Given the description of an element on the screen output the (x, y) to click on. 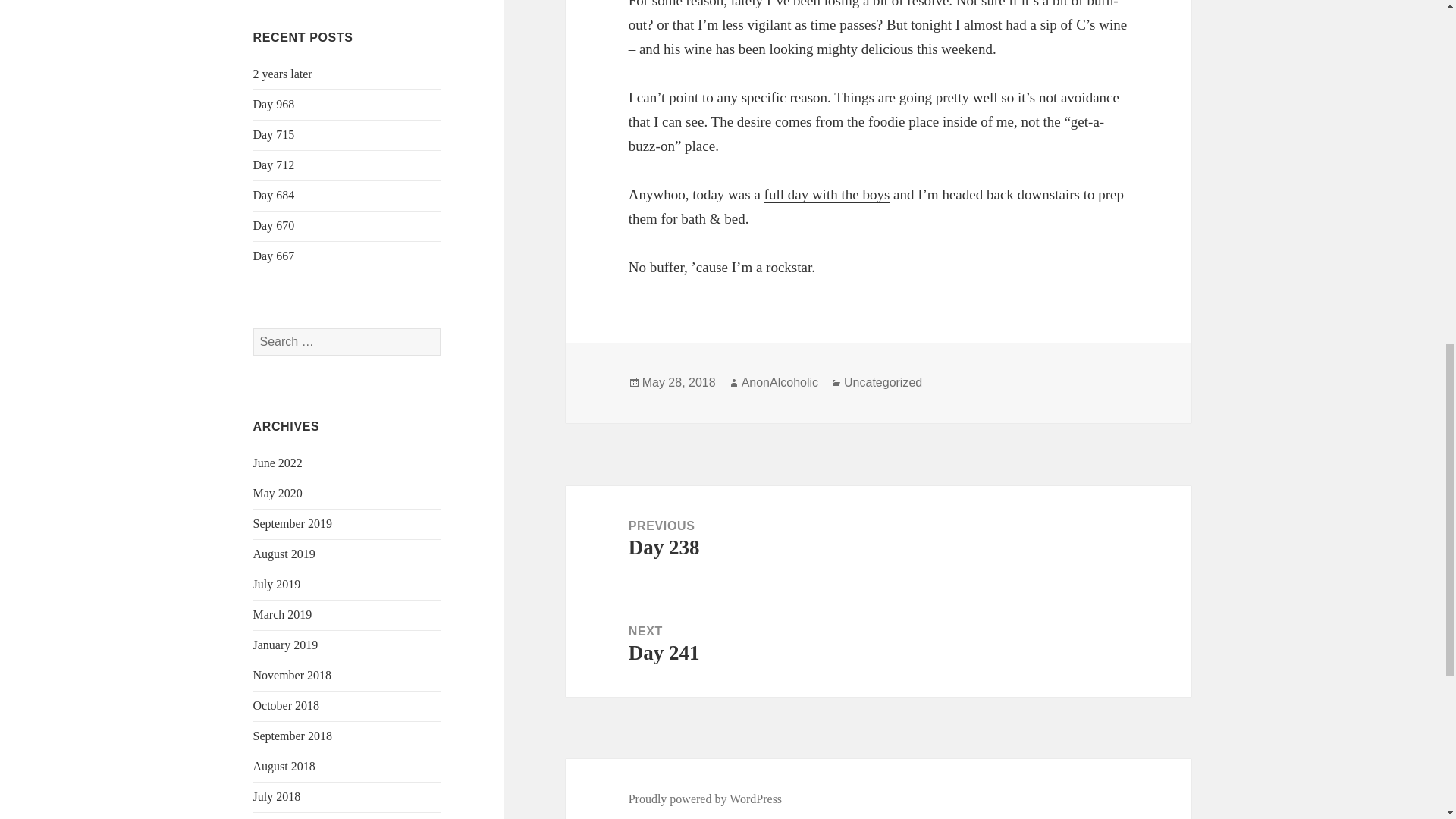
September 2019 (292, 522)
August 2018 (284, 766)
full day with the boys (826, 194)
Day 968 (274, 103)
May 2020 (277, 492)
Day 684 (274, 195)
Day 667 (274, 255)
June 2022 (277, 462)
2 years later (283, 73)
March 2019 (283, 614)
Day 715 (274, 133)
May 28, 2018 (679, 382)
